Given the description of an element on the screen output the (x, y) to click on. 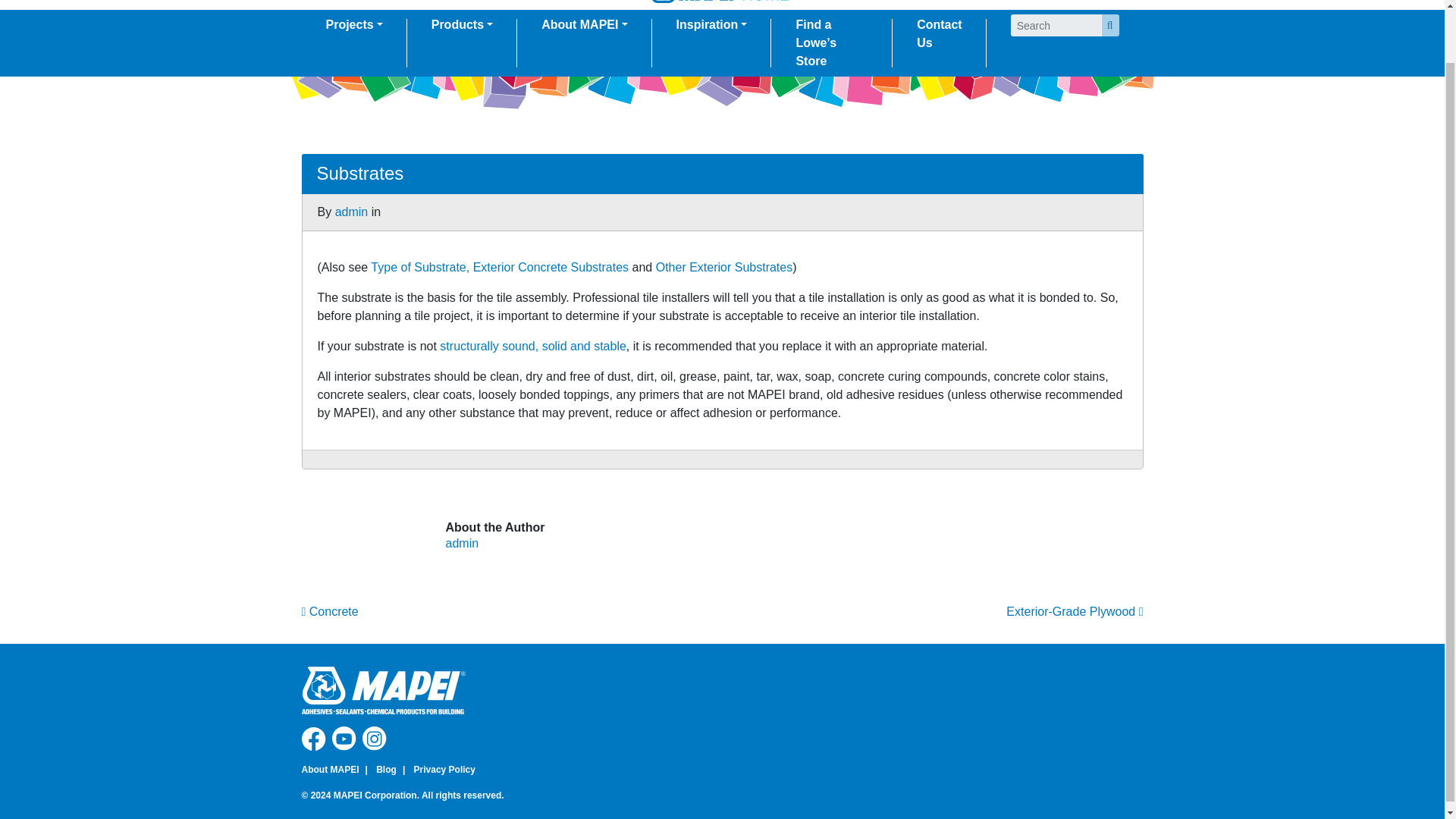
Contact Us (939, 33)
Projects (354, 24)
admin (351, 211)
Search (1109, 25)
About MAPEI (583, 24)
Products (461, 24)
Projects (354, 24)
Products (461, 24)
Inspiration (711, 24)
